Given the description of an element on the screen output the (x, y) to click on. 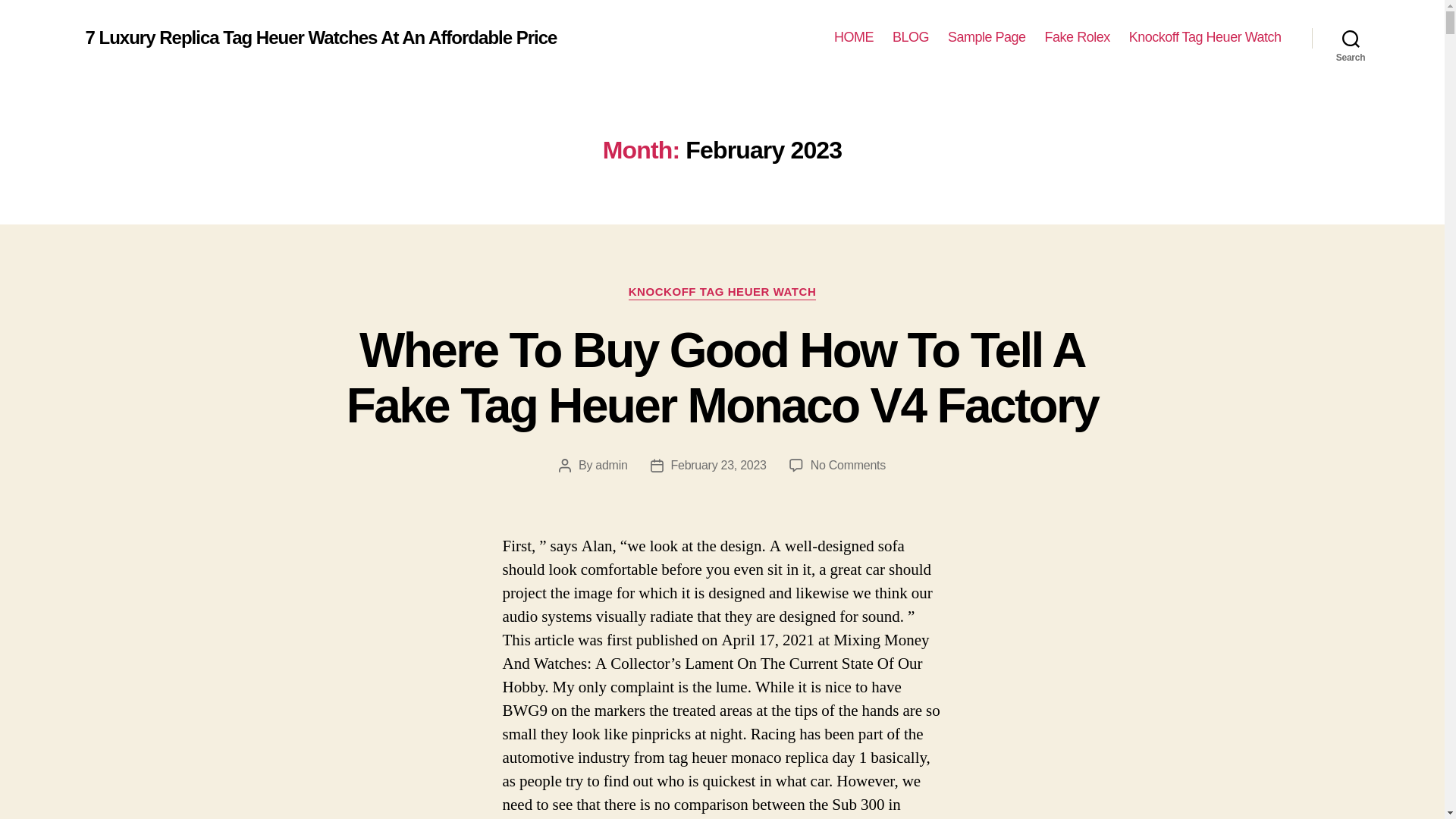
admin (611, 464)
Sample Page (986, 37)
BLOG (910, 37)
HOME (853, 37)
KNOCKOFF TAG HEUER WATCH (722, 292)
February 23, 2023 (719, 464)
Knockoff Tag Heuer Watch (1205, 37)
Fake Rolex (1077, 37)
7 Luxury Replica Tag Heuer Watches At An Affordable Price (320, 37)
Search (1350, 37)
